Given the description of an element on the screen output the (x, y) to click on. 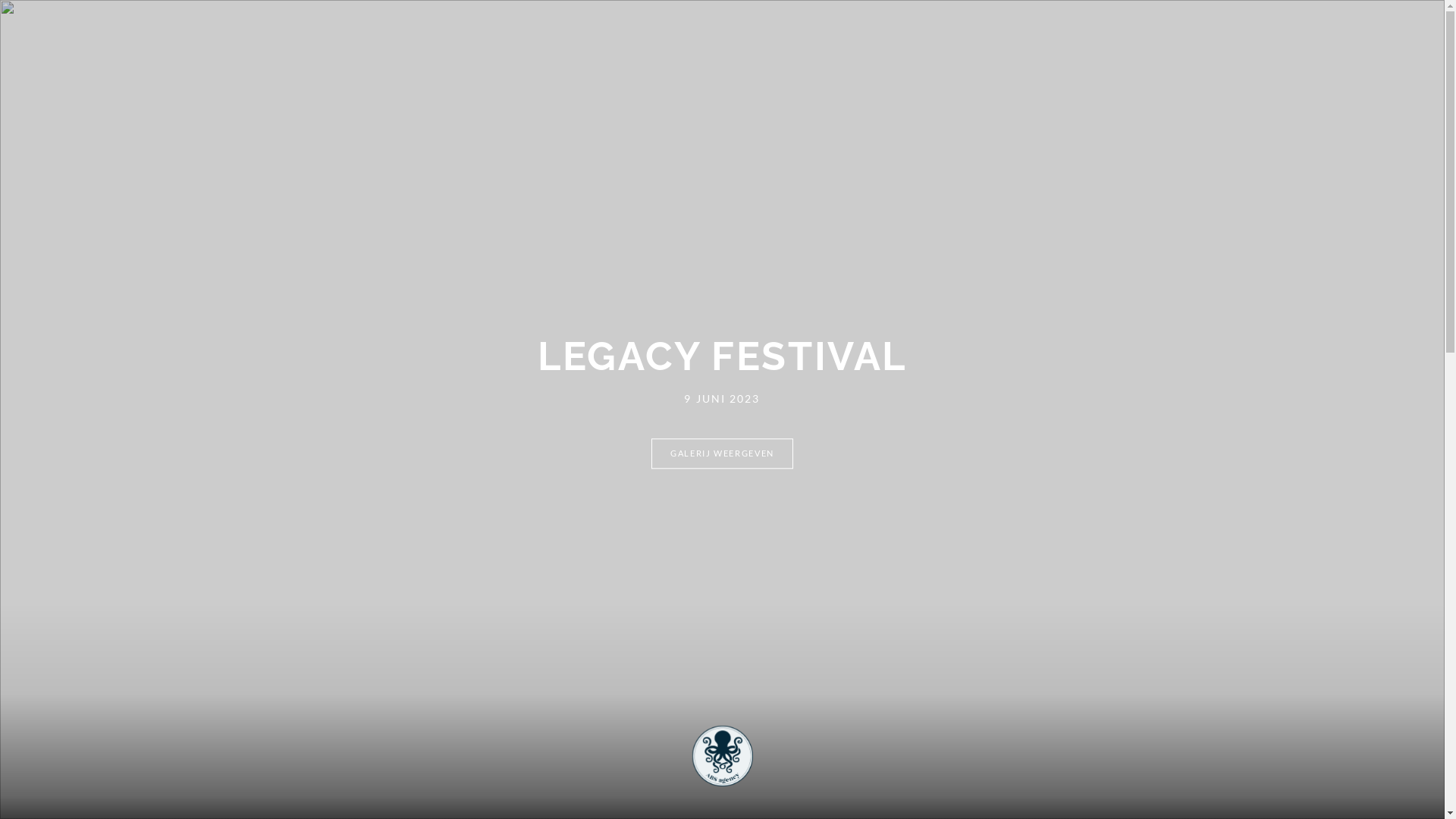
GALERIJ WEERGEVEN Element type: text (722, 454)
